Given the description of an element on the screen output the (x, y) to click on. 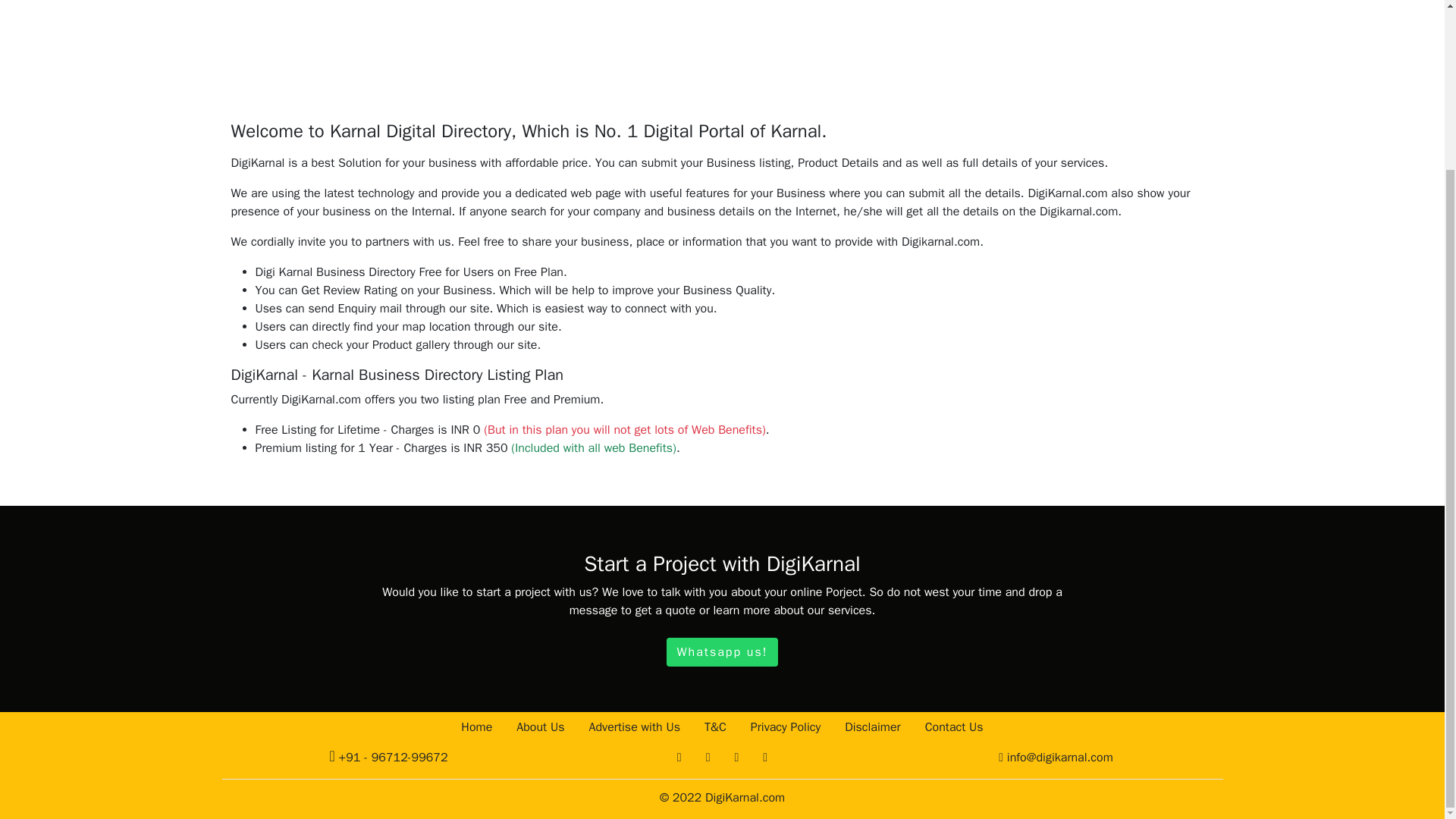
Privacy Policy (785, 726)
Disclaimer (872, 726)
Whatsapp us! (721, 651)
Advertise with Us (634, 726)
Home (475, 726)
About Us (539, 726)
Advertisement (721, 38)
Contact Us (953, 726)
